Given the description of an element on the screen output the (x, y) to click on. 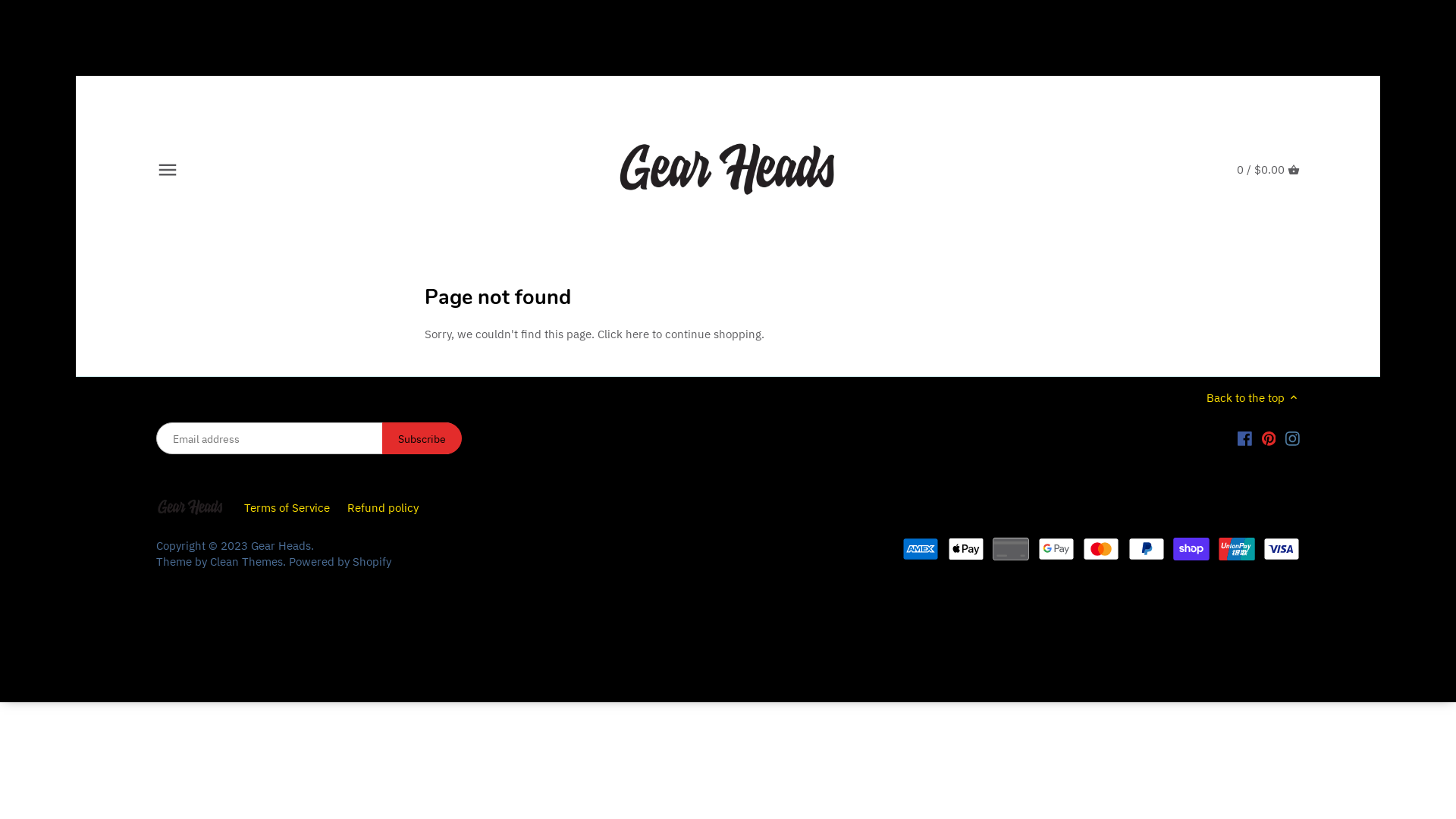
Subscribe Element type: text (421, 438)
Gear Heads Element type: text (280, 545)
Click here Element type: text (623, 333)
Terms of Service Element type: text (286, 507)
Instagram Element type: text (1292, 437)
Refund policy Element type: text (382, 507)
Pinterest Element type: text (1268, 437)
Facebook Element type: text (1244, 437)
0 / $0.00 CART Element type: text (1267, 169)
Clean Themes Element type: text (246, 561)
Powered by Shopify Element type: text (339, 561)
Back to the top Element type: text (1252, 396)
